Given the description of an element on the screen output the (x, y) to click on. 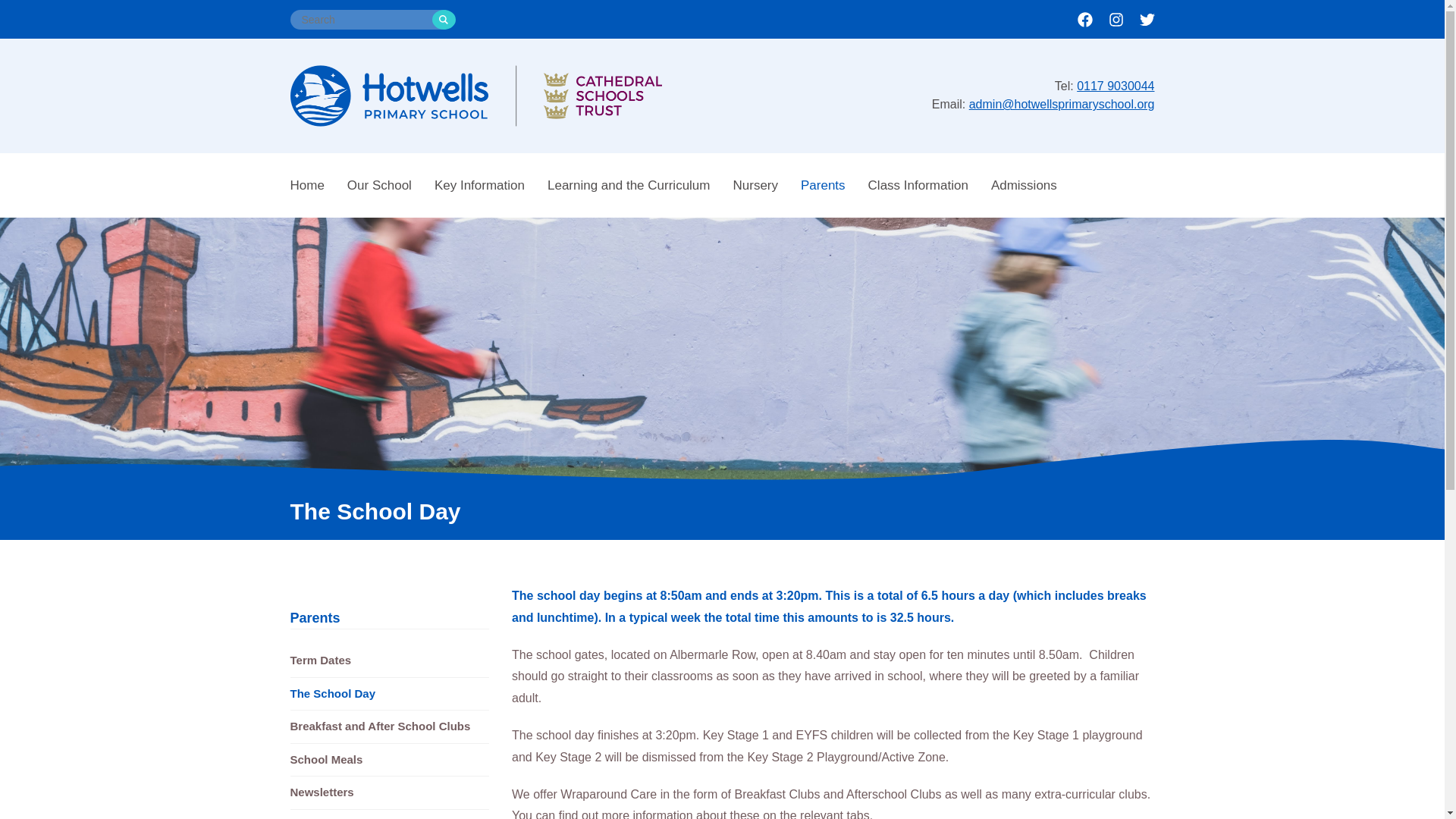
Click to visit our Instagram page (1110, 19)
Parents (314, 617)
Click to visit our Facebook page (1080, 19)
Click to visit our Twitter page (1142, 19)
